Given the description of an element on the screen output the (x, y) to click on. 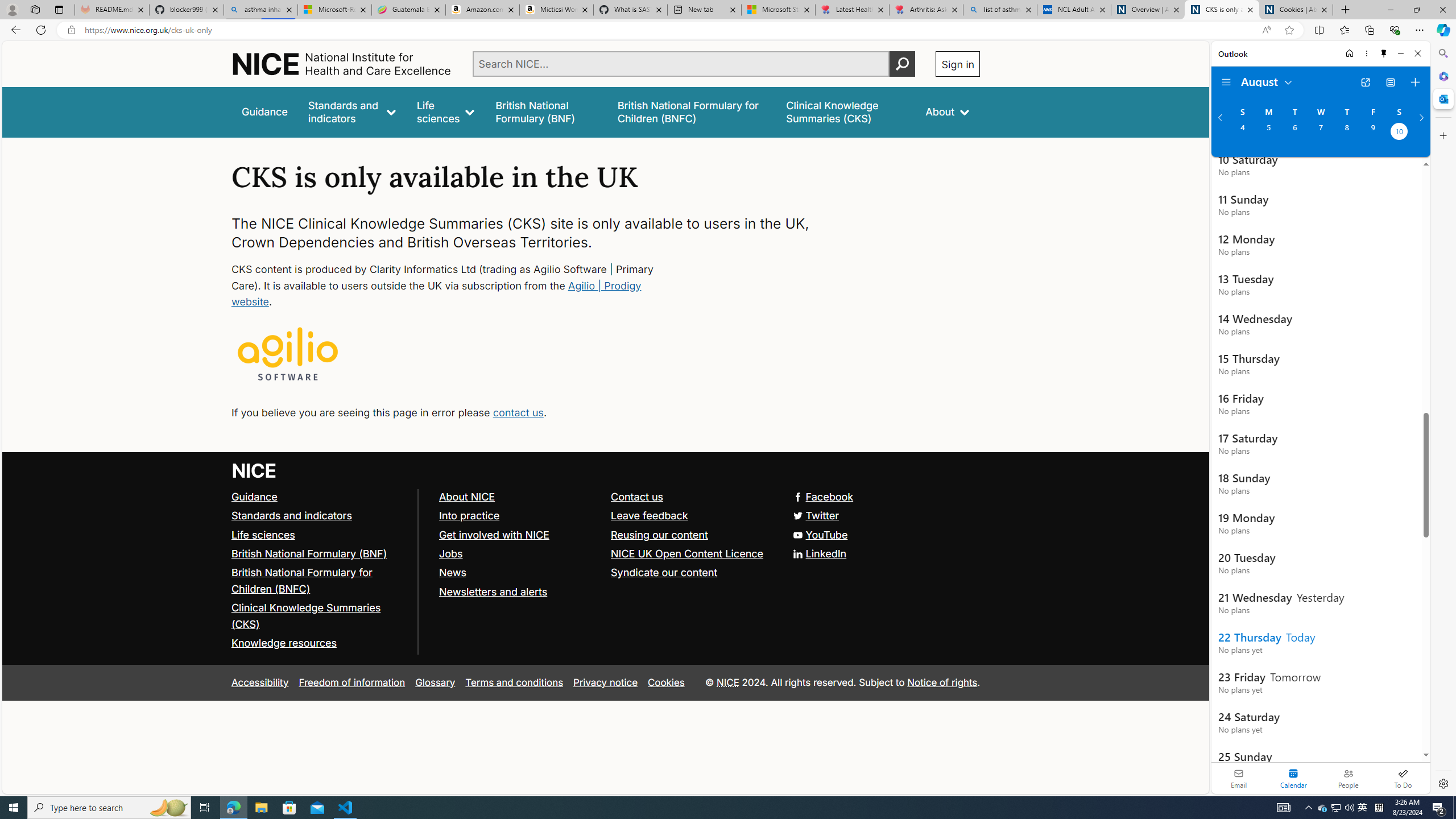
Accessibility (259, 682)
Agilio | Prodigy website (436, 293)
Knowledge resources (319, 643)
Minimize (1401, 53)
Facebook (823, 496)
App bar (728, 29)
Leave feedback (649, 515)
Guidance (254, 496)
Twitter (605, 515)
Freedom of information (352, 682)
Syndicate our content (664, 571)
